Given the description of an element on the screen output the (x, y) to click on. 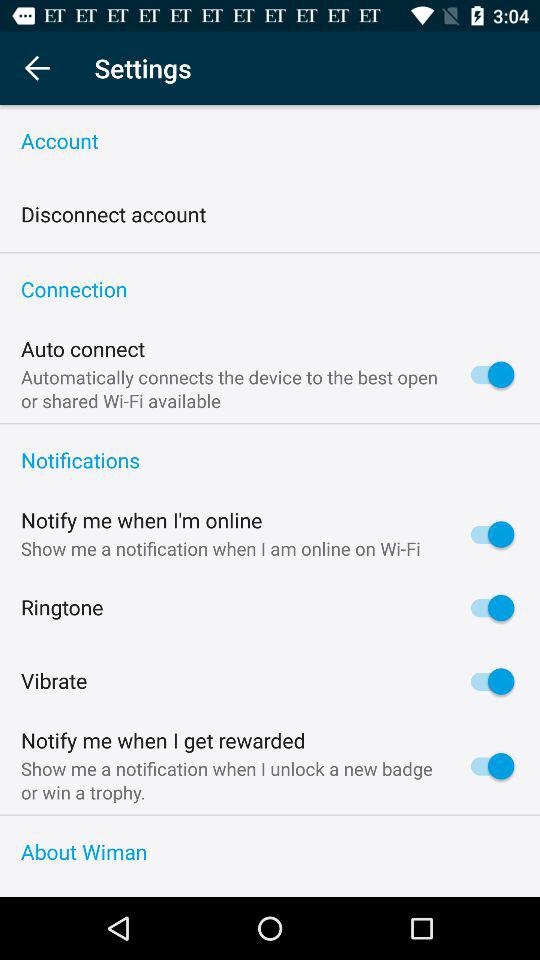
jump to the auto connect icon (83, 349)
